Given the description of an element on the screen output the (x, y) to click on. 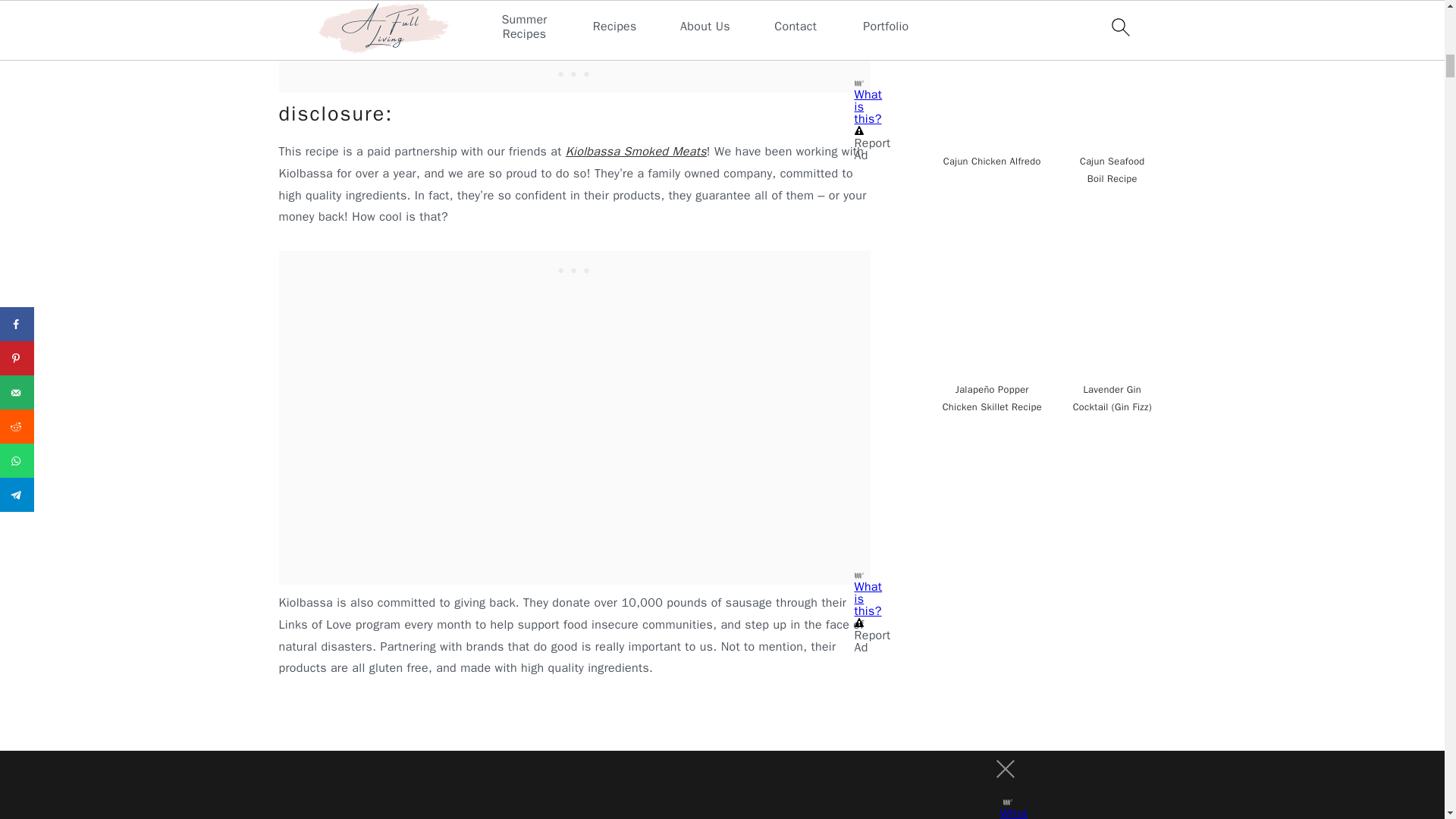
3rd party ad content (573, 269)
3rd party ad content (1052, 784)
Kiolbassa Smoked Meats (636, 151)
